Given the description of an element on the screen output the (x, y) to click on. 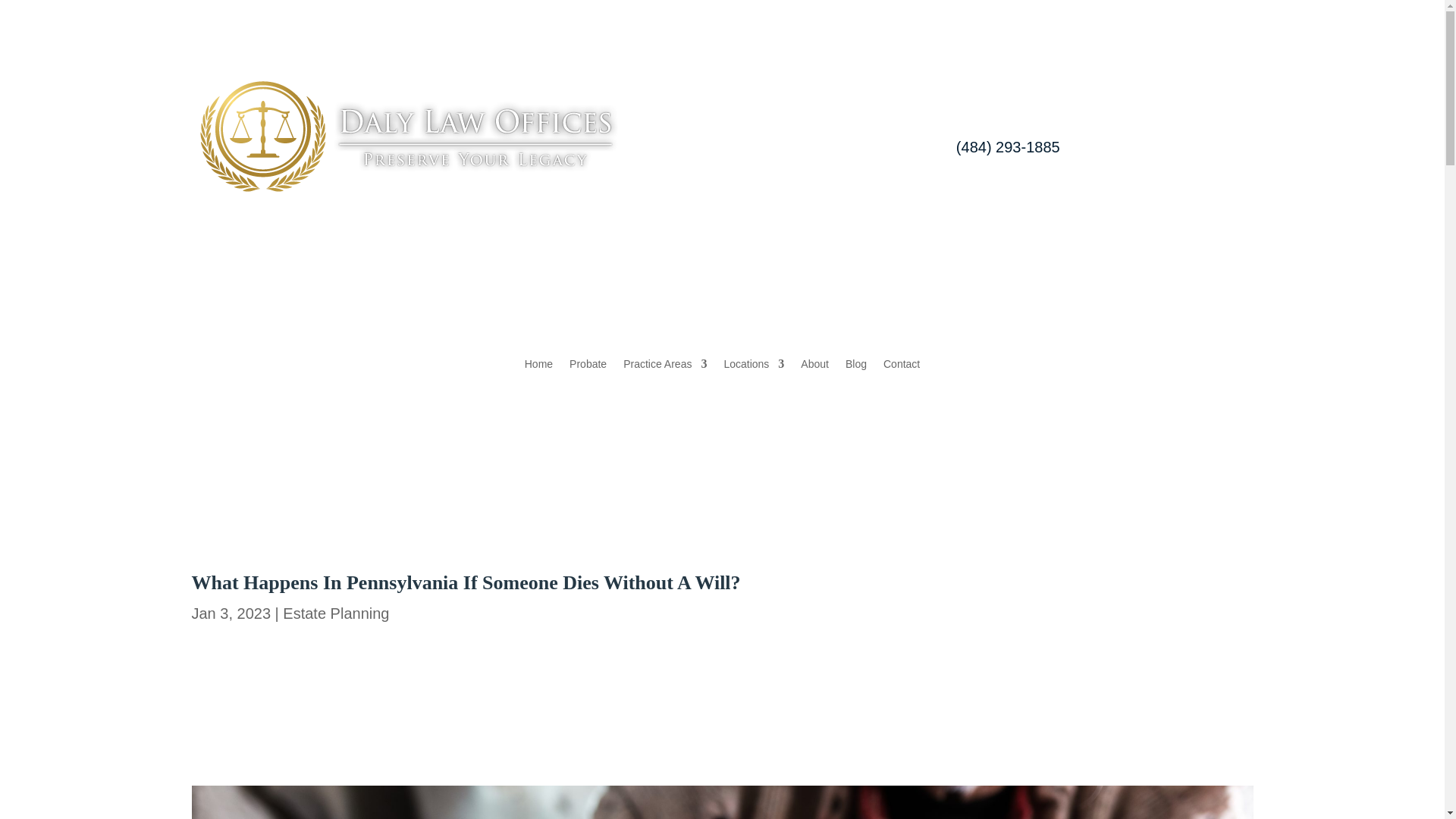
josh-daly-firm-pa-logo (403, 136)
Old,Man,With,Dirty,Hands,Writing,A,Letter,Using,A (721, 802)
Home (538, 371)
Practice Areas (664, 371)
Locations (753, 371)
Probate (588, 371)
